Given the description of an element on the screen output the (x, y) to click on. 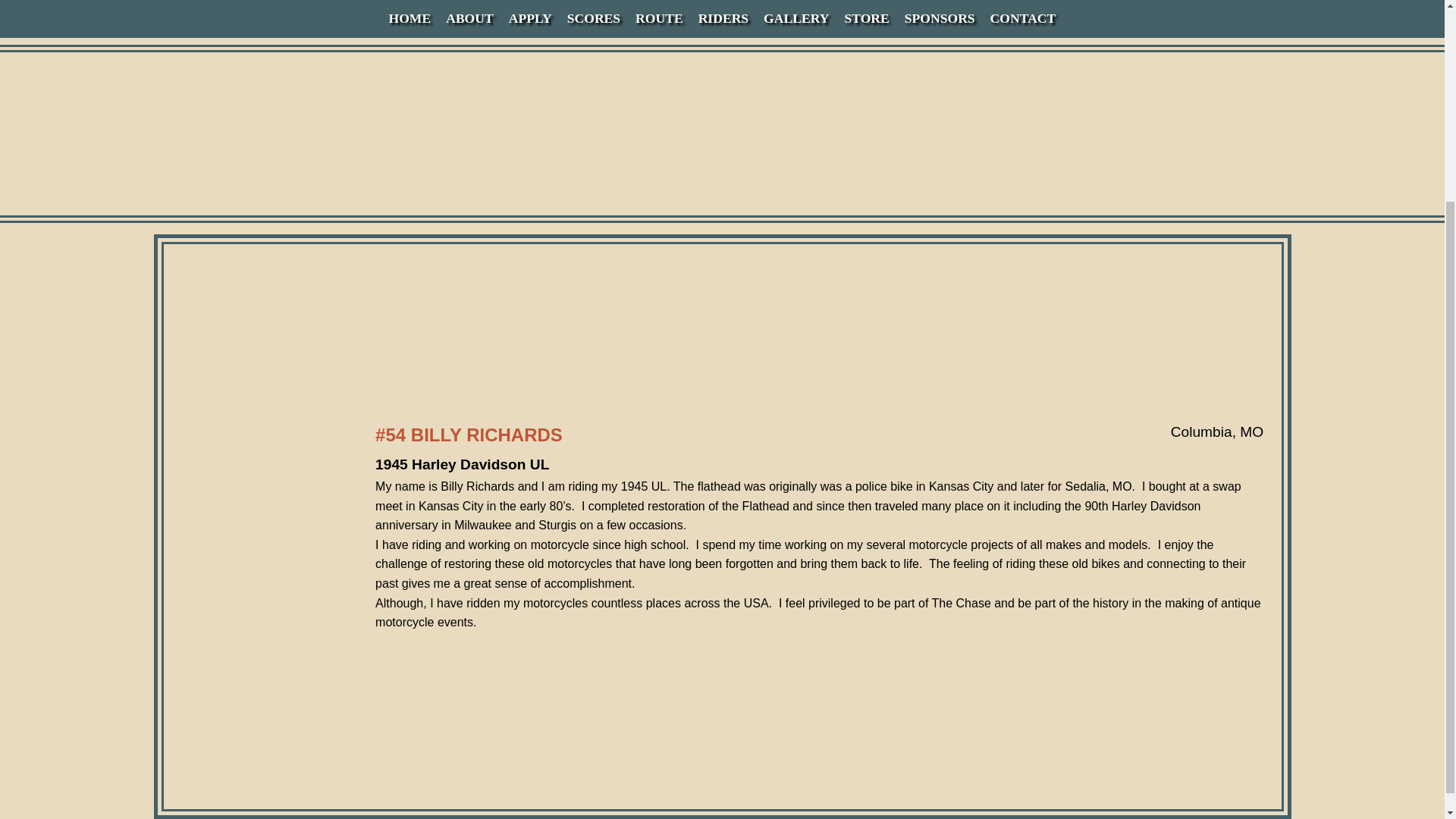
RIDERS (723, 13)
ABOUT (469, 13)
CONTACT (1023, 13)
SPONSORS (939, 13)
HOME (409, 13)
ROUTE (658, 13)
SCORES (593, 13)
APPLY (529, 13)
GALLERY (795, 13)
STORE (866, 13)
